Given the description of an element on the screen output the (x, y) to click on. 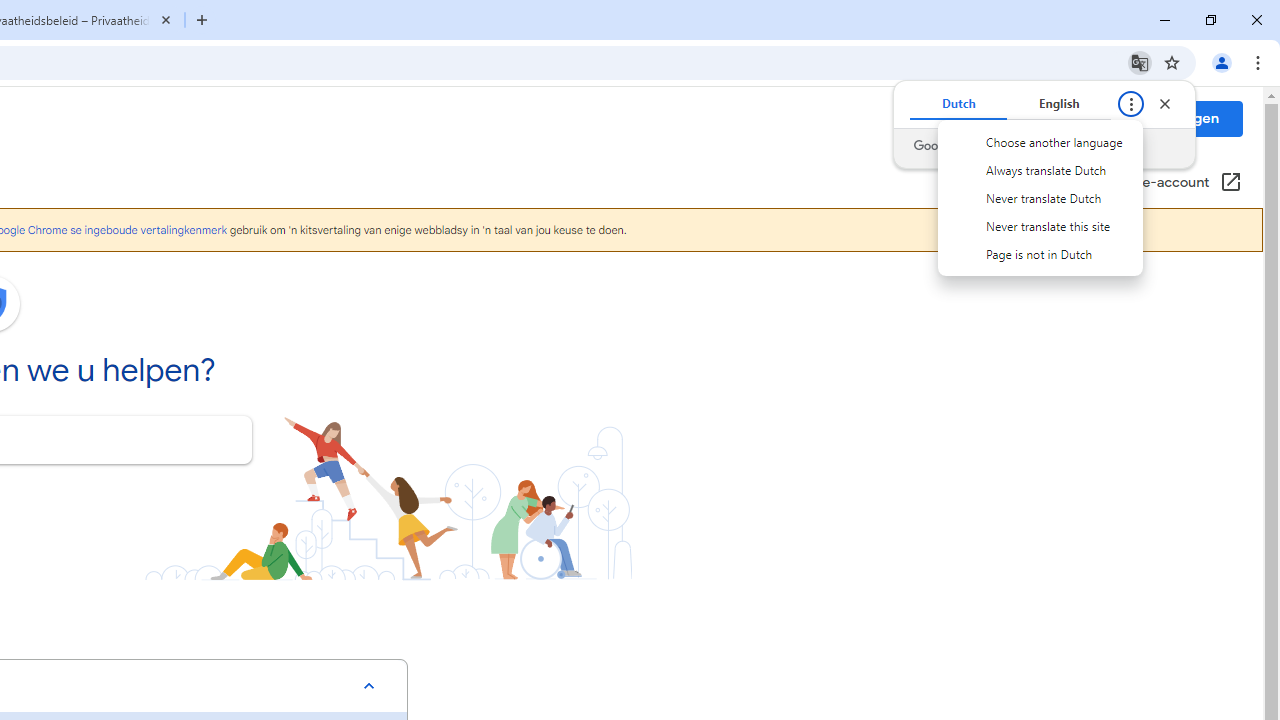
Translate this page (1139, 62)
English (1059, 103)
